Given the description of an element on the screen output the (x, y) to click on. 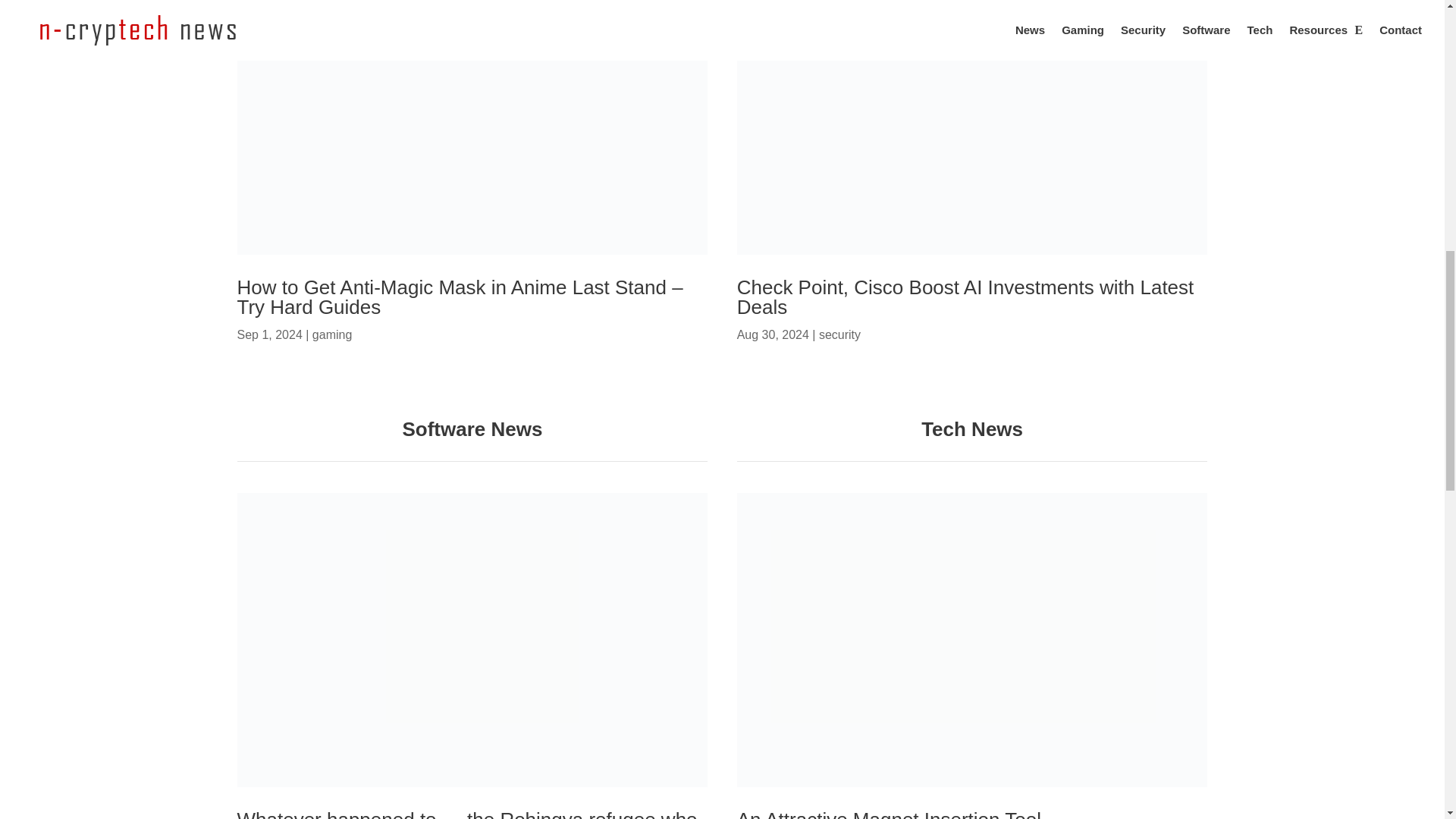
gaming (332, 334)
Check Point, Cisco Boost AI Investments with Latest Deals (964, 297)
An Attractive Magnet Insertion Tool (888, 813)
security (839, 334)
